Given the description of an element on the screen output the (x, y) to click on. 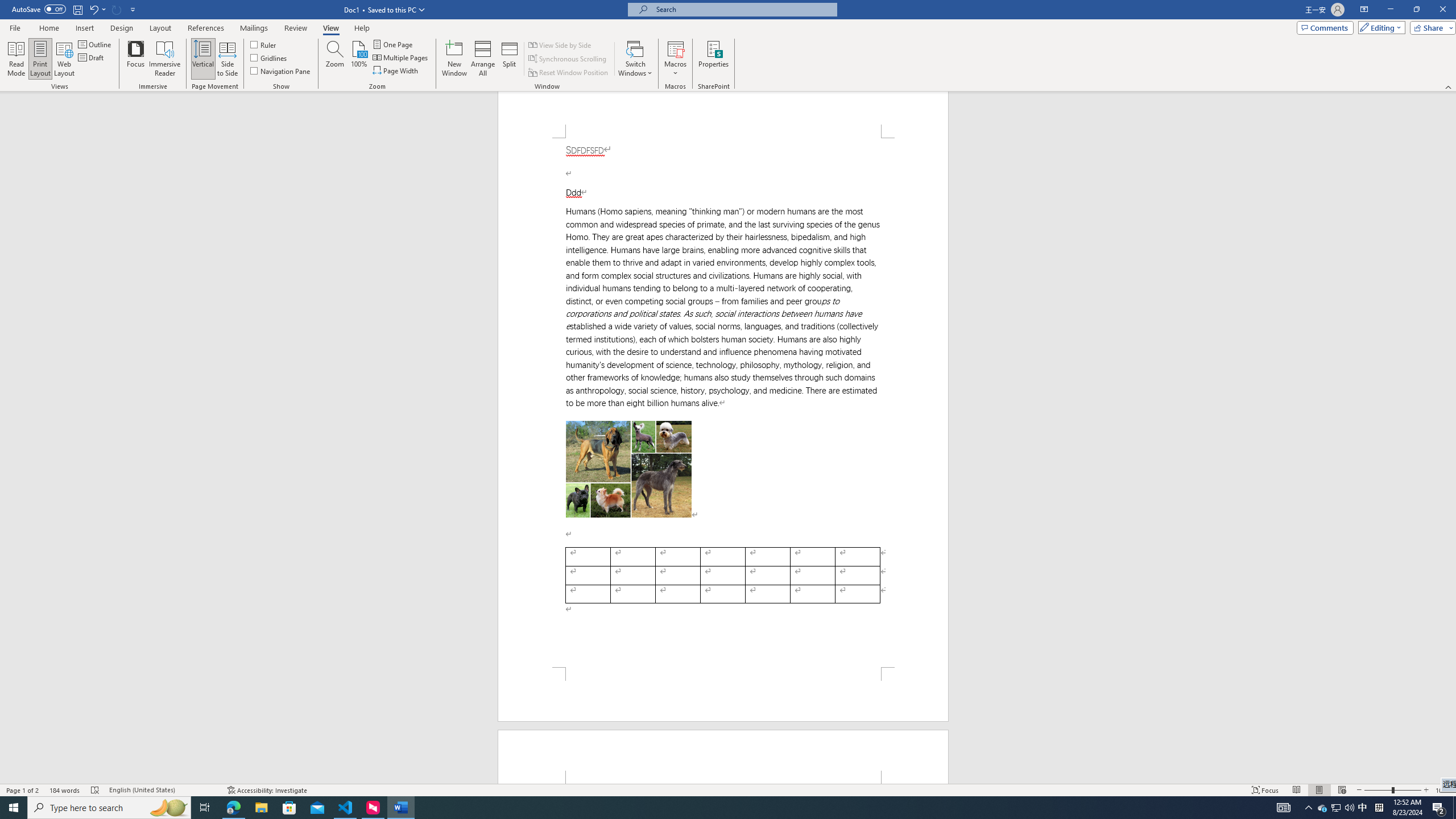
Switch Windows (635, 58)
Spelling and Grammar Check Errors (94, 790)
Reset Window Position (569, 72)
Vertical (202, 58)
Zoom 100% (1443, 790)
New Window (454, 58)
Word Count 184 words (64, 790)
Arrange All (483, 58)
